Given the description of an element on the screen output the (x, y) to click on. 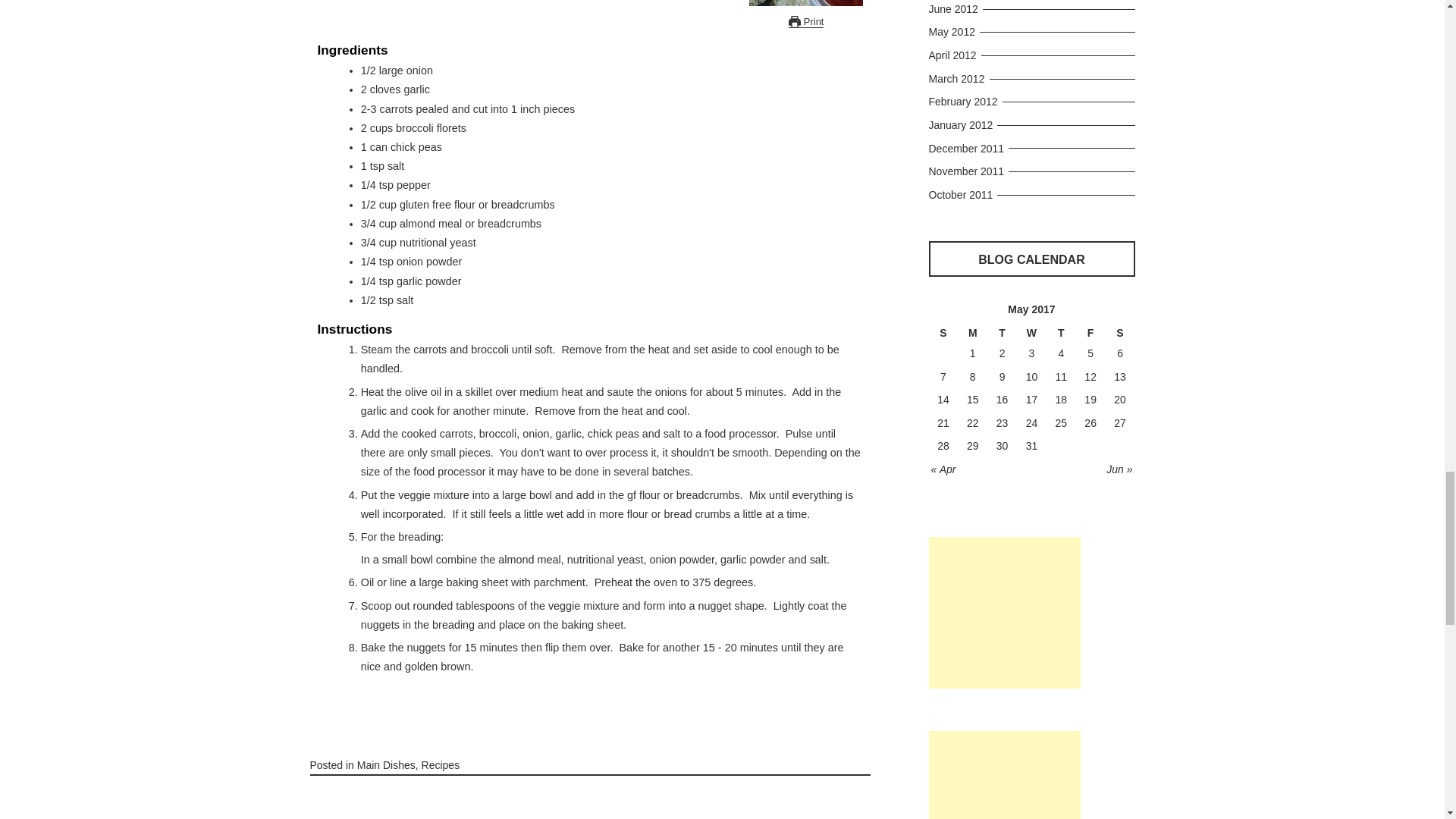
Monday (972, 333)
Wednesday (1031, 333)
Sunday (943, 333)
Print (806, 21)
Friday (1090, 333)
Advertisement (1004, 775)
Advertisement (1004, 612)
Main Dishes (385, 765)
Saturday (1120, 333)
Recipes (441, 765)
Thursday (1060, 333)
Tuesday (1001, 333)
